Given the description of an element on the screen output the (x, y) to click on. 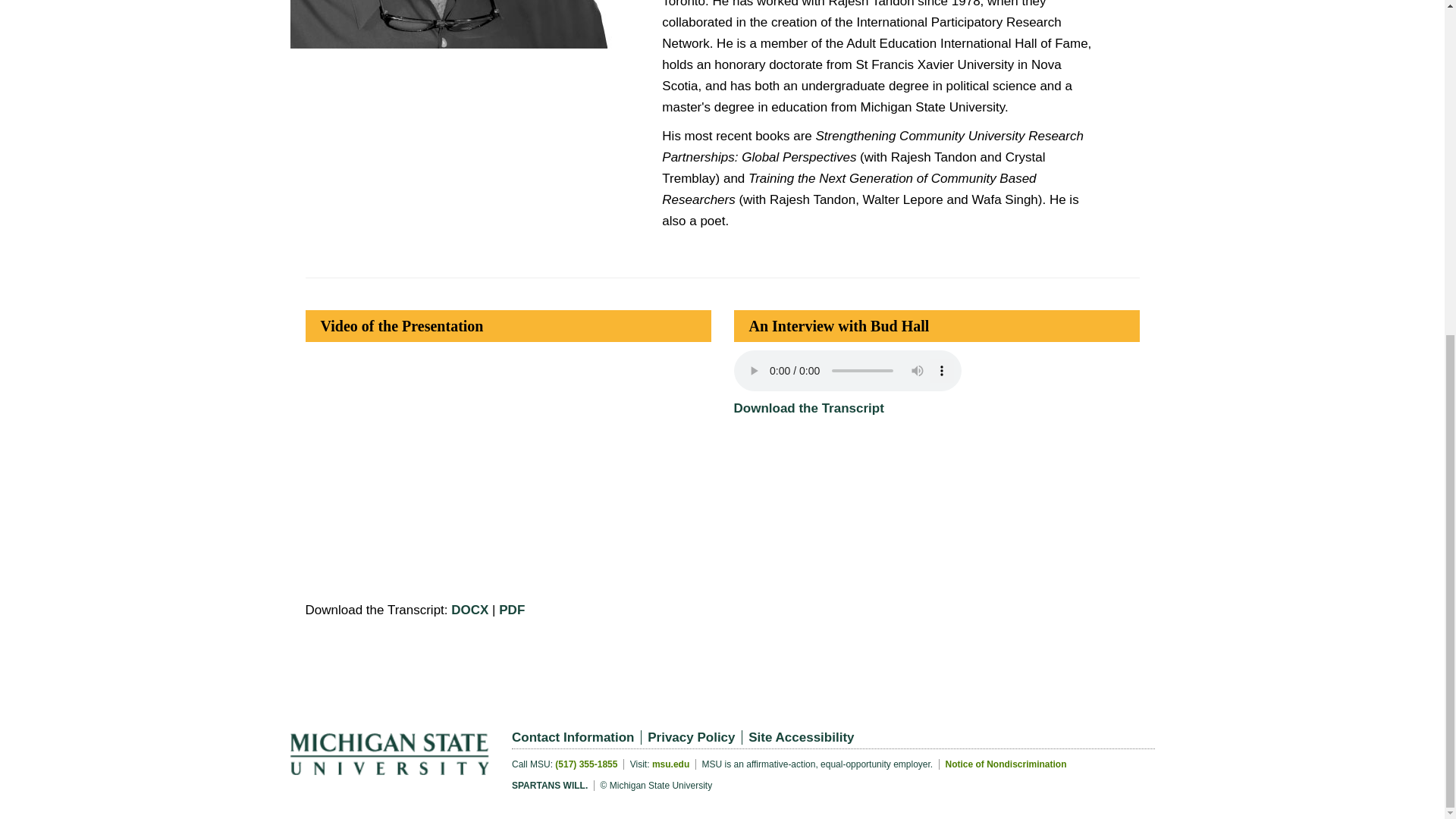
Download the Transcript (808, 408)
Notice of Nondiscrimination (1004, 764)
Site Accessibility (804, 737)
PDF (511, 609)
msu.edu (670, 764)
Download the transcript of the interview (808, 408)
Contact Information (577, 737)
DOCX (469, 609)
Privacy Policy (694, 737)
